Given the description of an element on the screen output the (x, y) to click on. 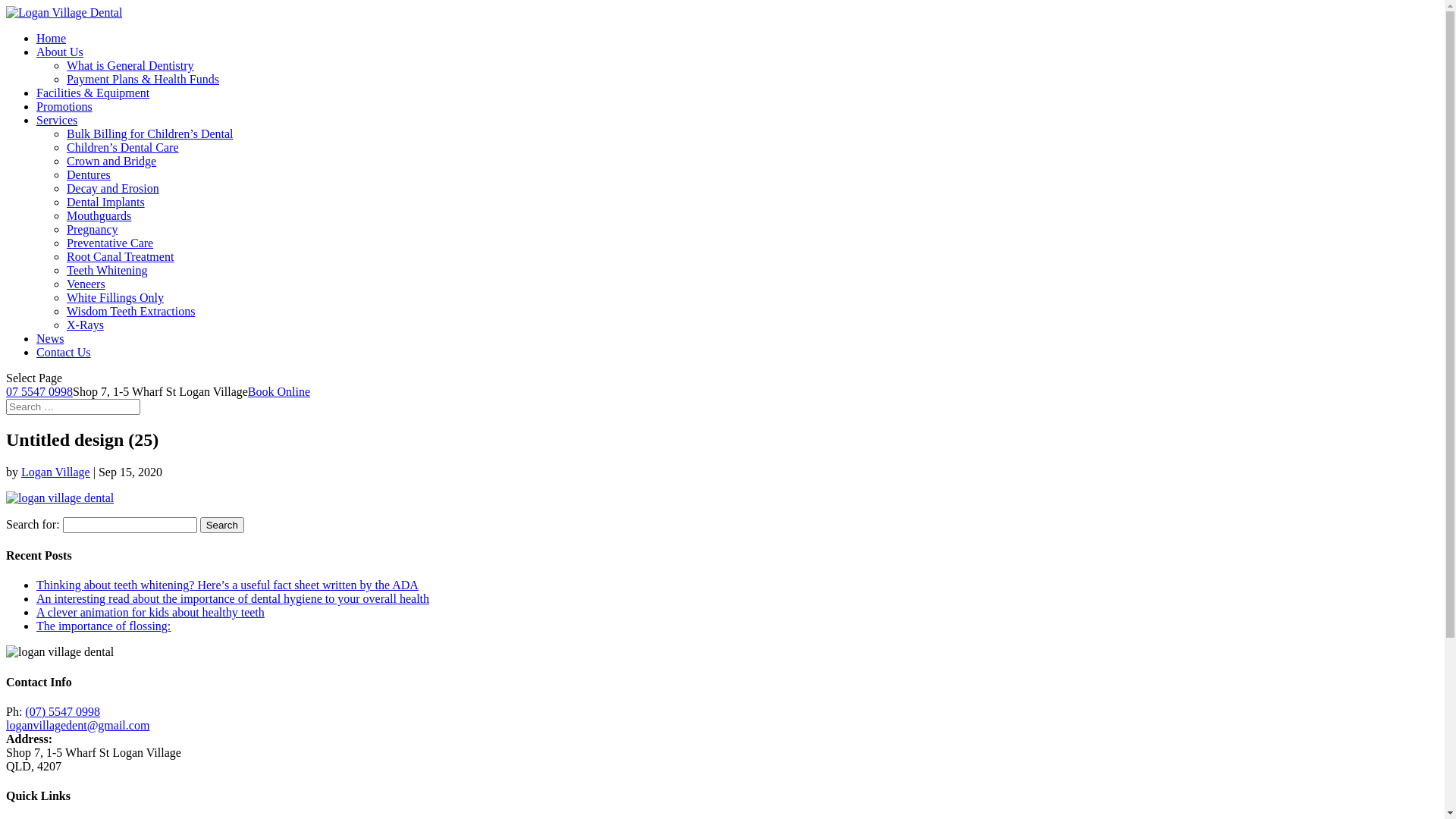
Payment Plans & Health Funds Element type: text (142, 78)
Veneers Element type: text (85, 283)
(07) 5547 0998 Element type: text (62, 711)
Root Canal Treatment Element type: text (119, 256)
Logan Village Element type: text (55, 471)
The importance of flossing: Element type: text (103, 625)
Dentures Element type: text (88, 174)
Search for: Element type: hover (73, 406)
Home Element type: text (50, 37)
News Element type: text (49, 338)
What is General Dentistry Element type: text (130, 65)
Promotions Element type: text (64, 106)
Preventative Care Element type: text (109, 242)
logo | Logan Village Dental Element type: hover (59, 651)
X-Rays Element type: text (84, 324)
Facilities & Equipment Element type: text (92, 92)
Pregnancy Element type: text (92, 228)
Decay and Erosion Element type: text (112, 188)
Mouthguards Element type: text (98, 215)
Wisdom Teeth Extractions Element type: text (130, 310)
Book Online Element type: text (278, 391)
Dental Implants Element type: text (105, 201)
White Fillings Only Element type: text (114, 297)
Services Element type: text (56, 119)
Untitled design (25) | Logan Village Dental Element type: hover (59, 498)
loganvillagedent@gmail.com Element type: text (77, 724)
Crown and Bridge Element type: text (111, 160)
07 5547 0998 Element type: text (39, 391)
Search Element type: text (222, 525)
A clever animation for kids about healthy teeth Element type: text (150, 611)
Teeth Whitening Element type: text (106, 269)
Contact Us Element type: text (63, 351)
About Us Element type: text (59, 51)
